Given the description of an element on the screen output the (x, y) to click on. 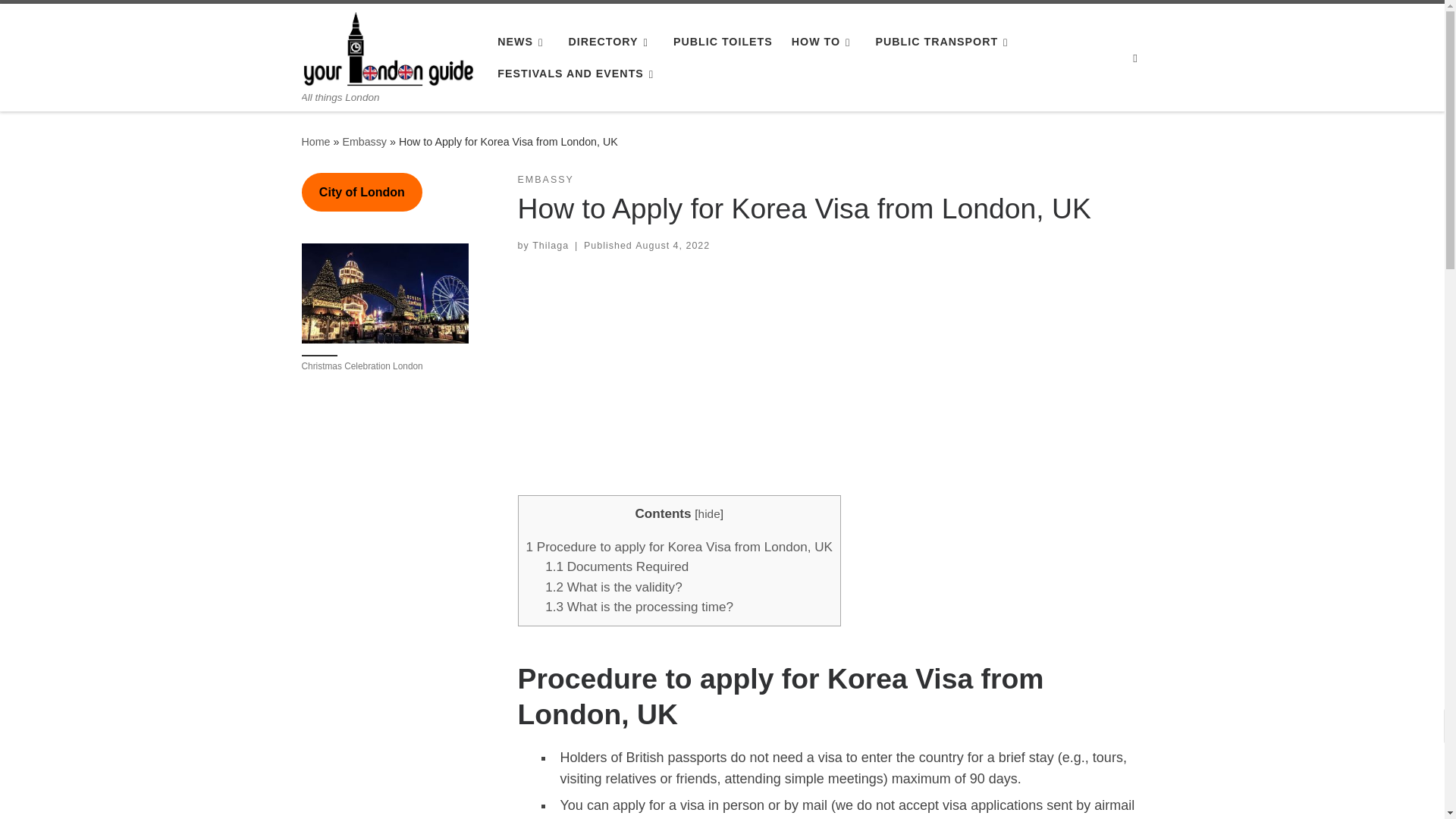
View all posts in Embassy (544, 179)
6:52 am (672, 245)
View all posts by Thilaga (550, 245)
PUBLIC TRANSPORT (944, 41)
Advertisement (390, 755)
HOW TO (824, 41)
PUBLIC TOILETS (722, 41)
NEWS (523, 41)
Your London Guide (315, 141)
DIRECTORY (611, 41)
